Given the description of an element on the screen output the (x, y) to click on. 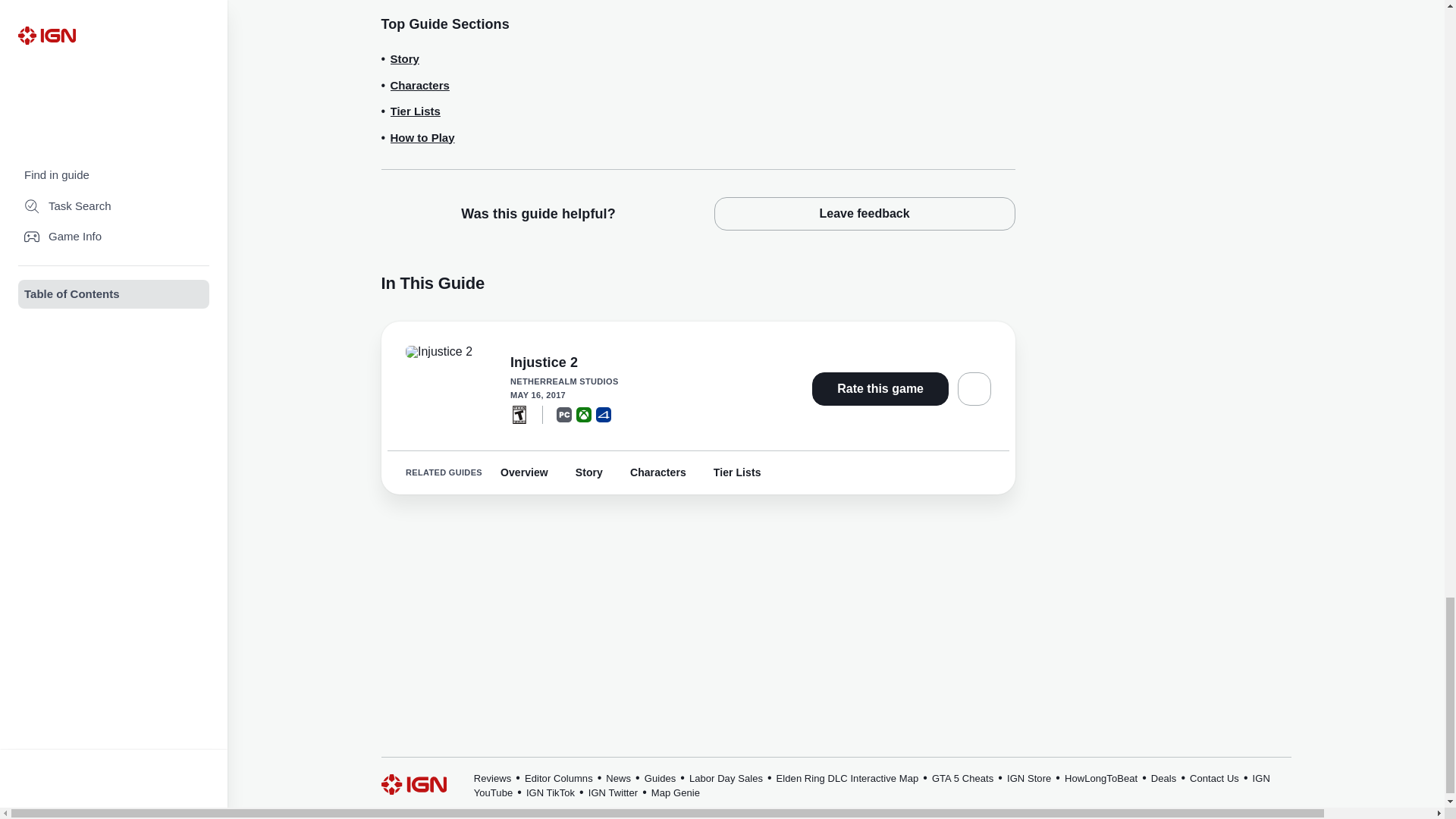
ESRB: Teen (518, 413)
Xbox One (583, 413)
PlayStation 4 (603, 413)
PC (564, 413)
